Given the description of an element on the screen output the (x, y) to click on. 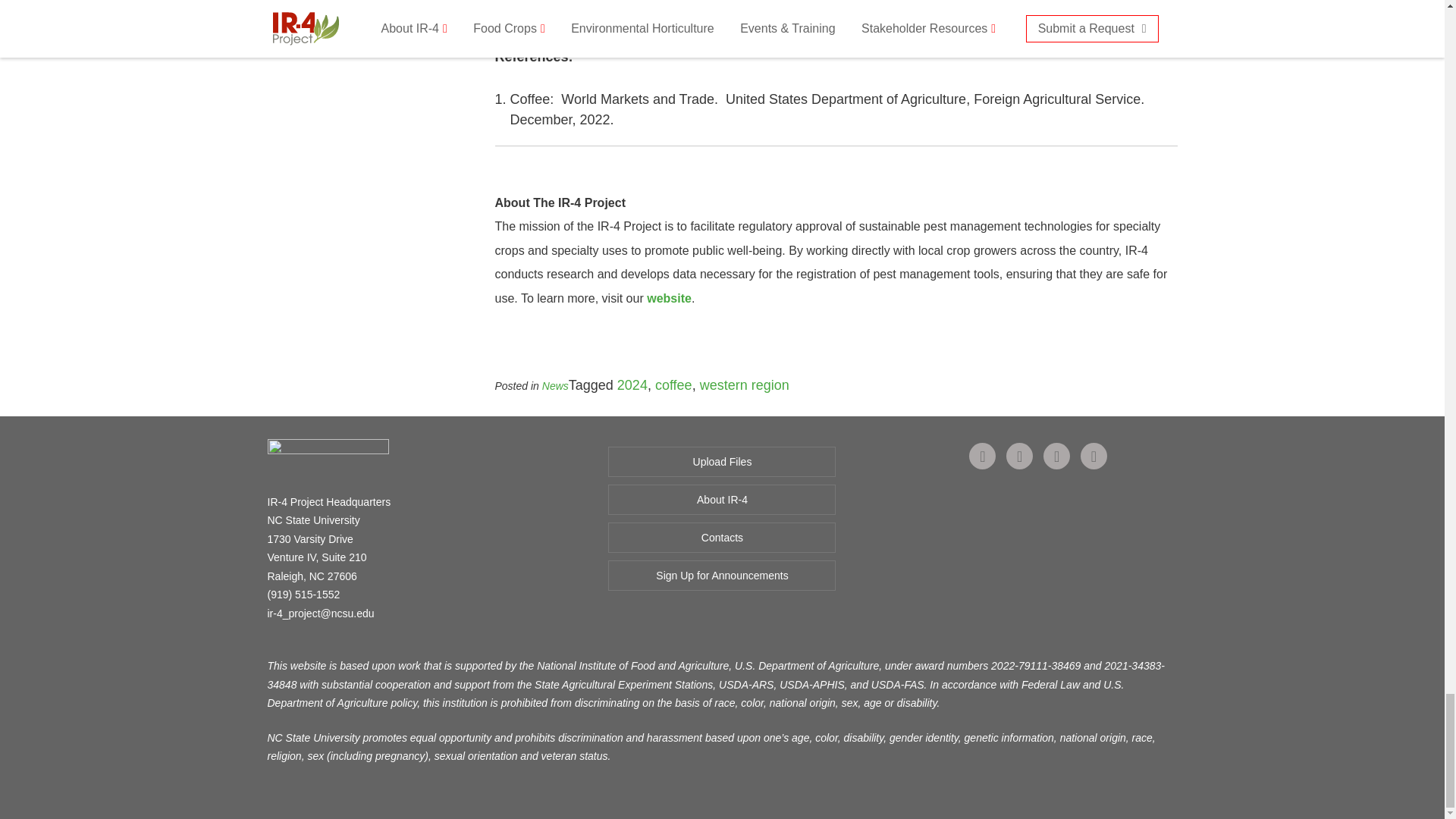
Visit us on LinkedIn (1056, 456)
Visit us on YouTube (1093, 456)
News (555, 386)
Visit us on Facebook (982, 456)
Visit us on Twitter (1019, 456)
website (668, 297)
